Given the description of an element on the screen output the (x, y) to click on. 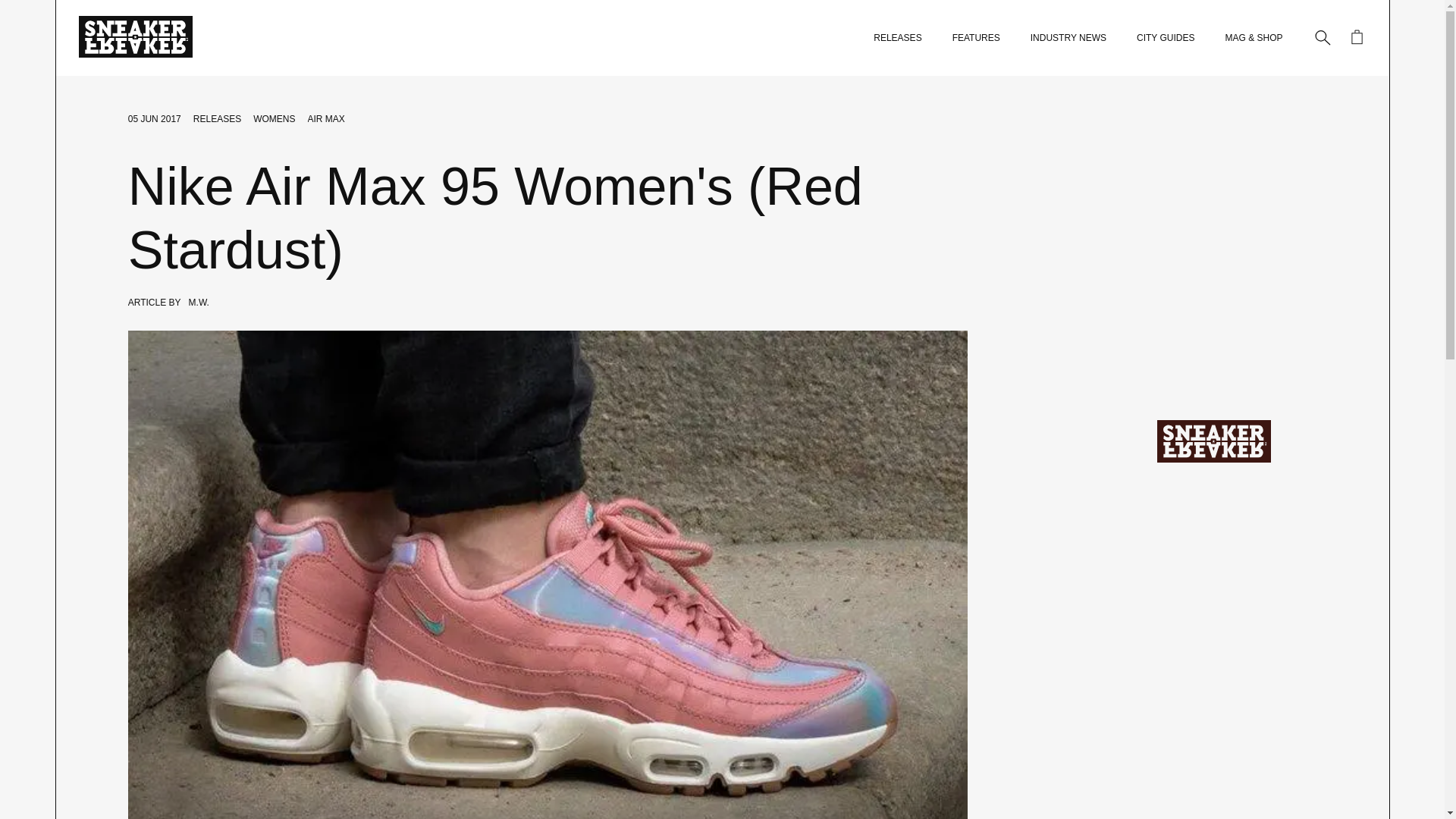
CITY GUIDES (1165, 37)
WOMENS (274, 118)
FEATURES (976, 37)
RELEASES (897, 37)
INDUSTRY NEWS (1068, 37)
AIR MAX (326, 118)
RELEASES (217, 118)
